Given the description of an element on the screen output the (x, y) to click on. 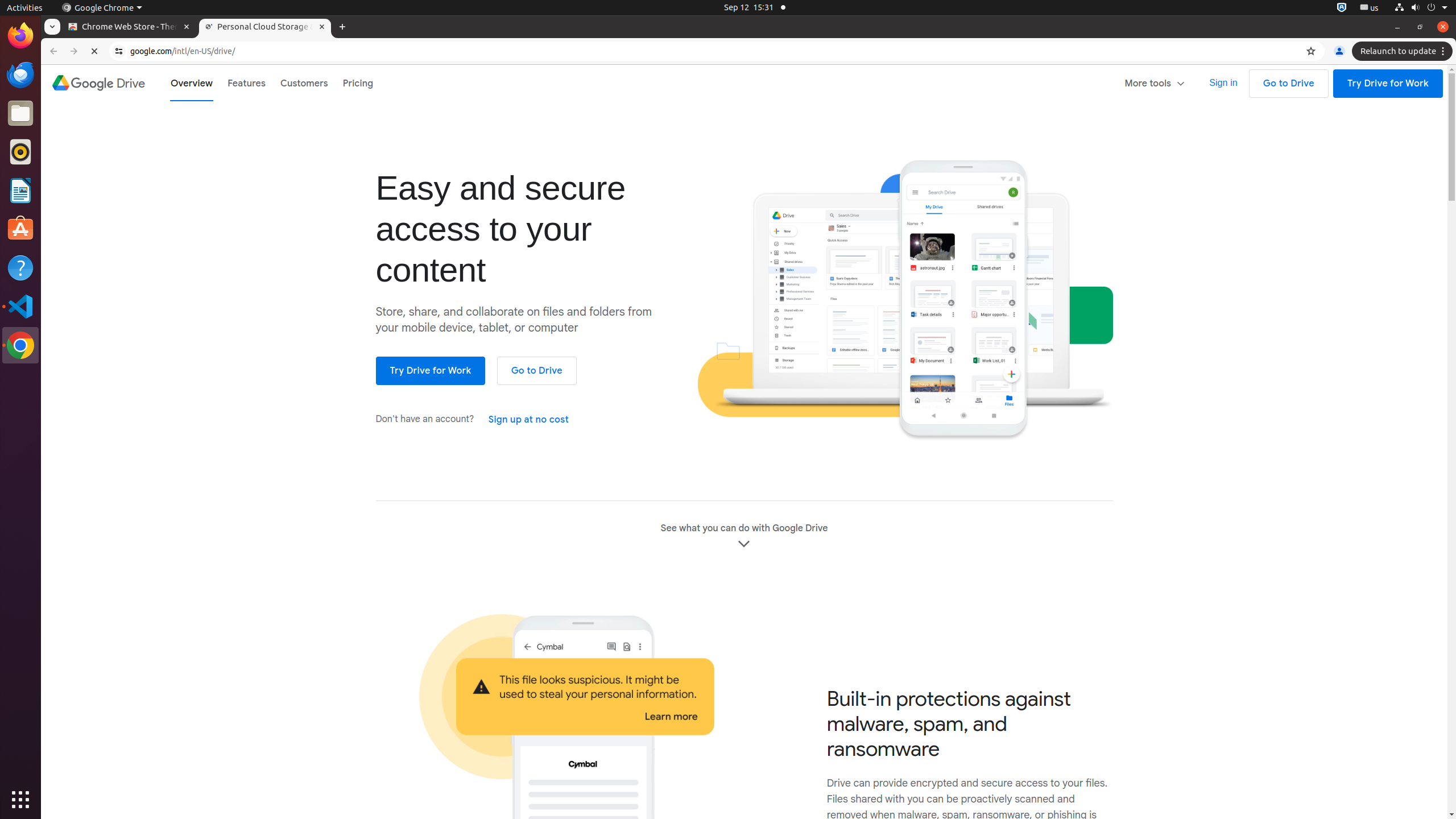
Firefox Web Browser Element type: push-button (20, 35)
Customers Element type: link (304, 82)
Google Chrome Element type: menu (101, 7)
LibreOffice Writer Element type: push-button (20, 190)
Back Element type: push-button (51, 50)
